Given the description of an element on the screen output the (x, y) to click on. 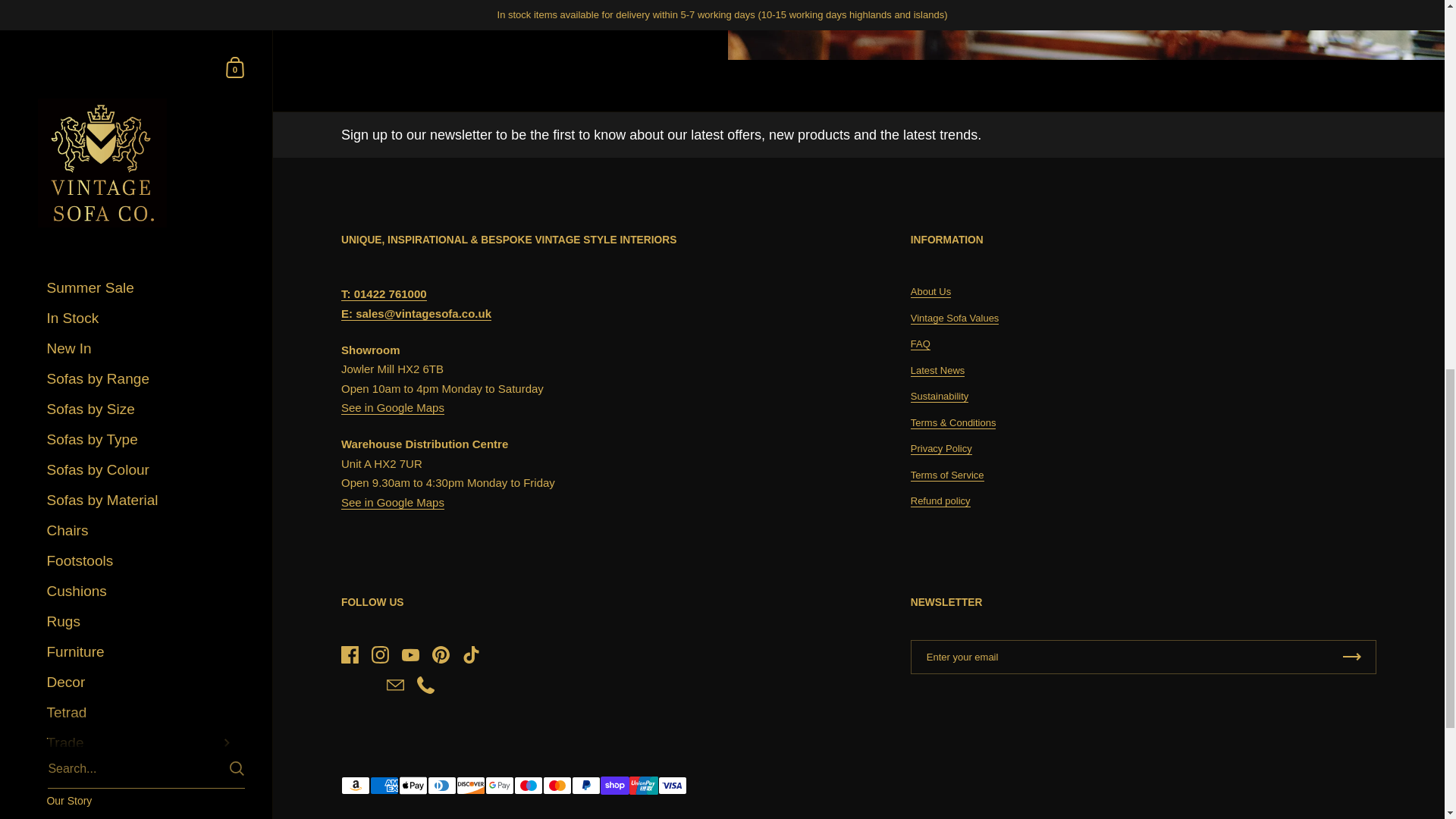
Email (125, 164)
YouTube (140, 133)
TikTok (201, 133)
Facebook (80, 133)
Login (141, 79)
Instagram (110, 133)
Phone (156, 164)
tel: 01422 761000 (383, 294)
Visit our Showroom (141, 9)
Pinterest (170, 133)
